Given the description of an element on the screen output the (x, y) to click on. 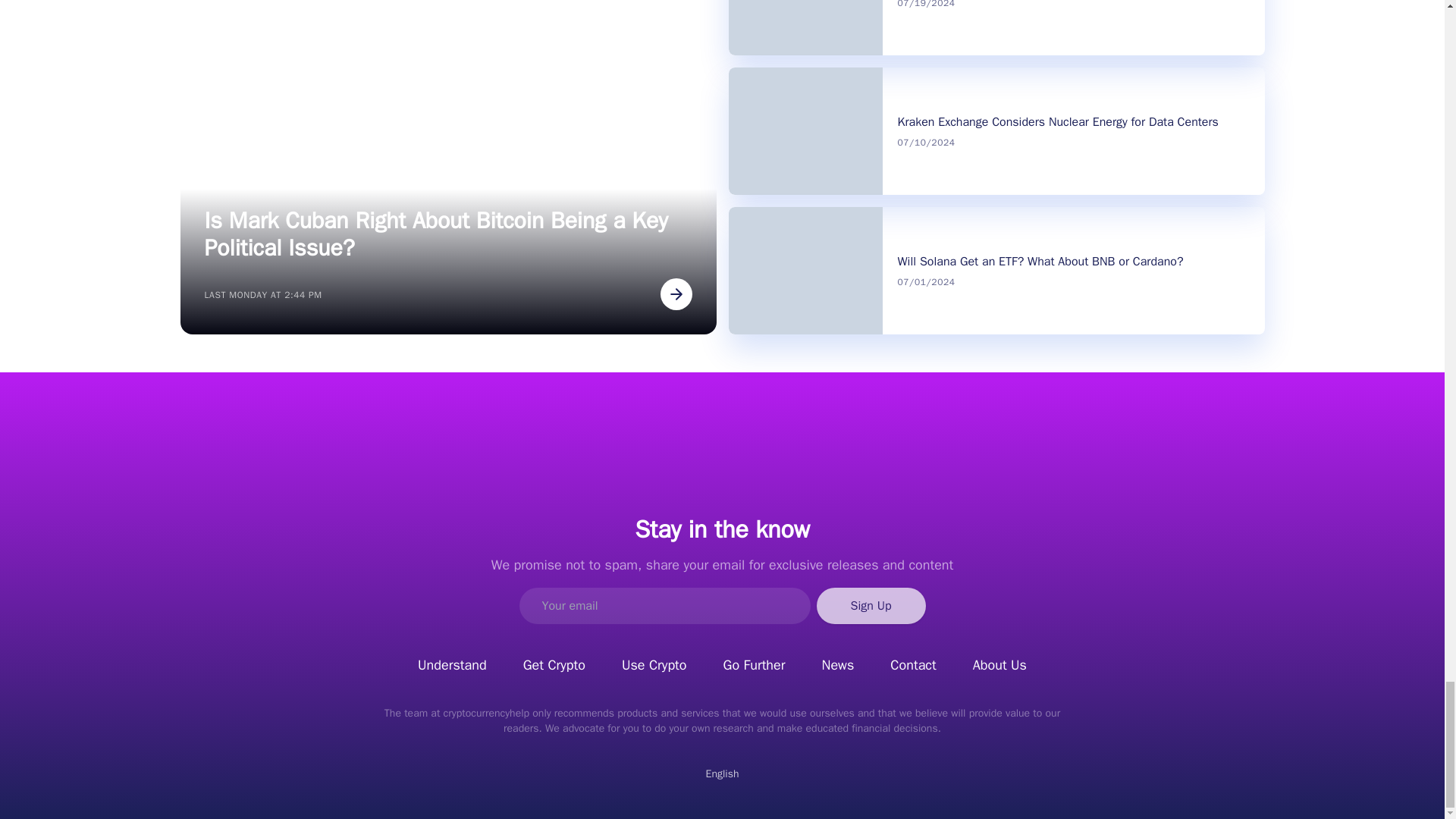
Kraken Exchange Considers Nuclear Energy for Data Centers (1058, 121)
Will Solana Get an ETF? What About BNB or Cardano? (1040, 261)
Kraken Exchange Considers Nuclear Energy for Data Centers (1058, 121)
